Given the description of an element on the screen output the (x, y) to click on. 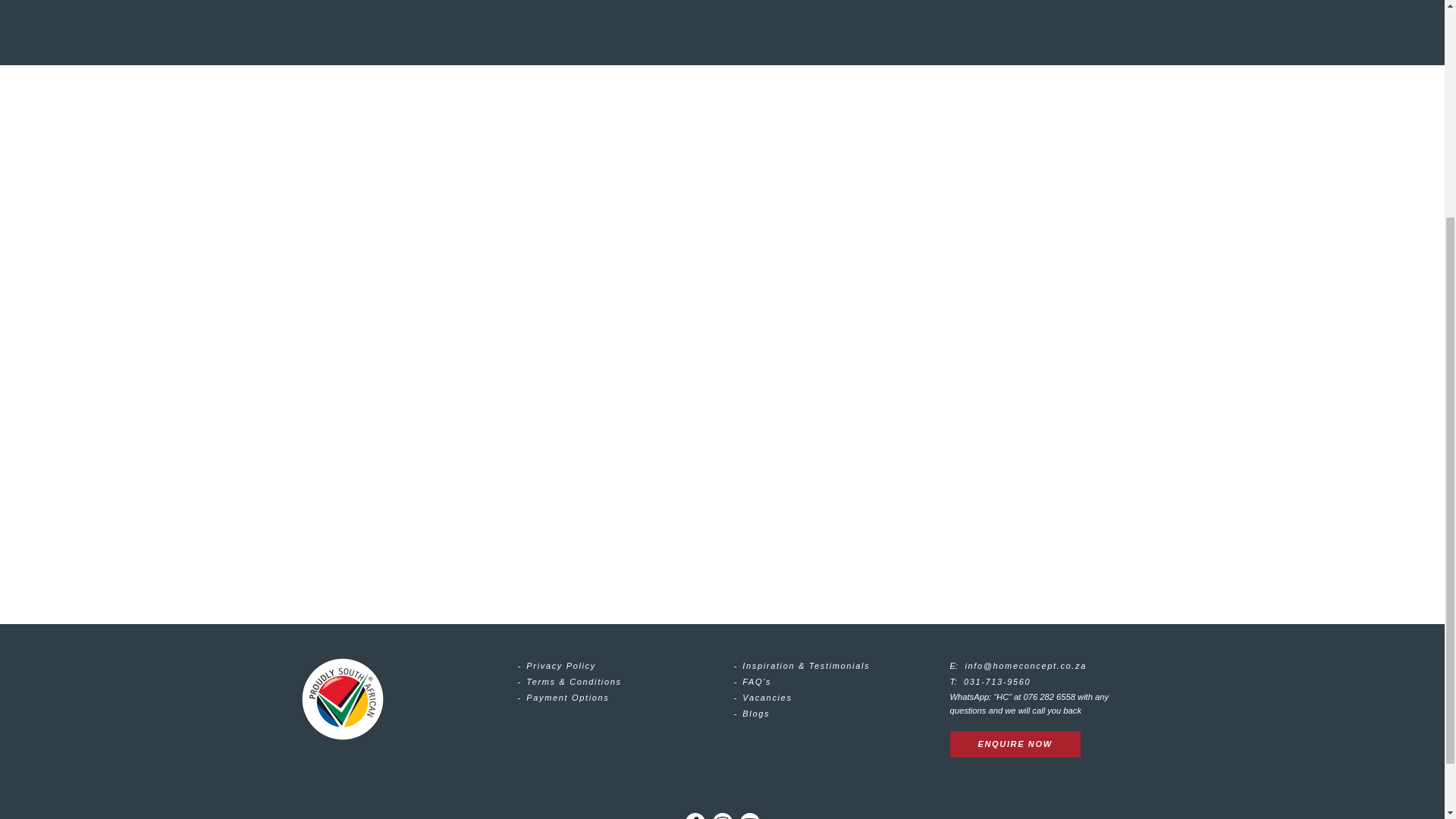
ENQUIRE NOW (1014, 744)
Privacy Policy (560, 665)
Payment Options (566, 696)
031-713-9560 (996, 681)
Vacancies (767, 696)
Blogs (756, 713)
